Given the description of an element on the screen output the (x, y) to click on. 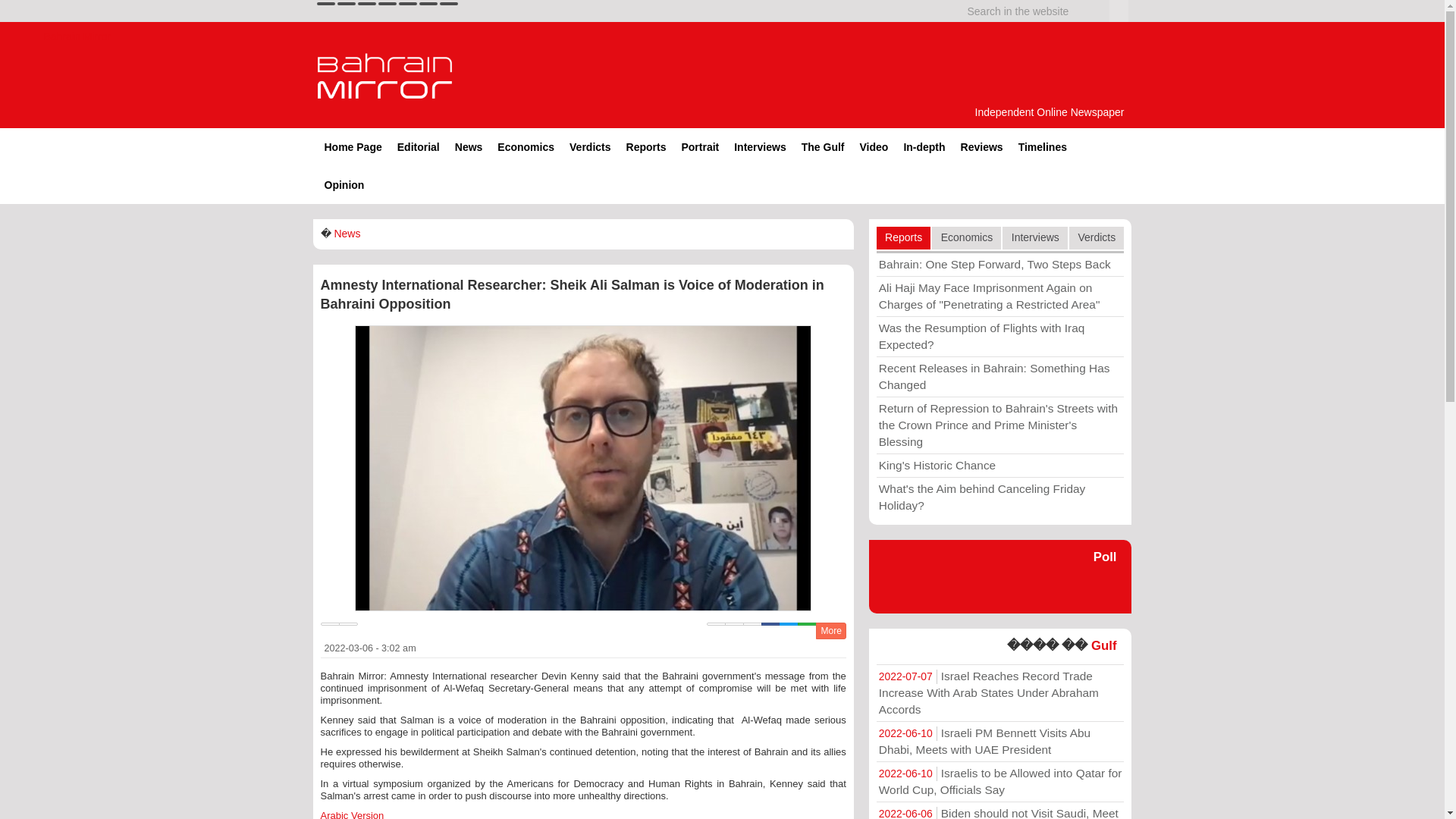
Android App (448, 3)
King's Historic Chance (1000, 465)
Whatsapp (806, 623)
Ali Haji May Face Imprisonment Again on Charges of  (1000, 296)
Print (715, 623)
Facebook (770, 623)
instagram (386, 3)
facebook (345, 3)
Economics (525, 146)
facebook (345, 3)
Was the Resumption of Flights with Iraq Expected? (1000, 336)
telegram (407, 3)
Recent Releases in Bahrain: Something Has Changed (1000, 376)
Arabic Version (352, 814)
iOS App (427, 3)
